Given the description of an element on the screen output the (x, y) to click on. 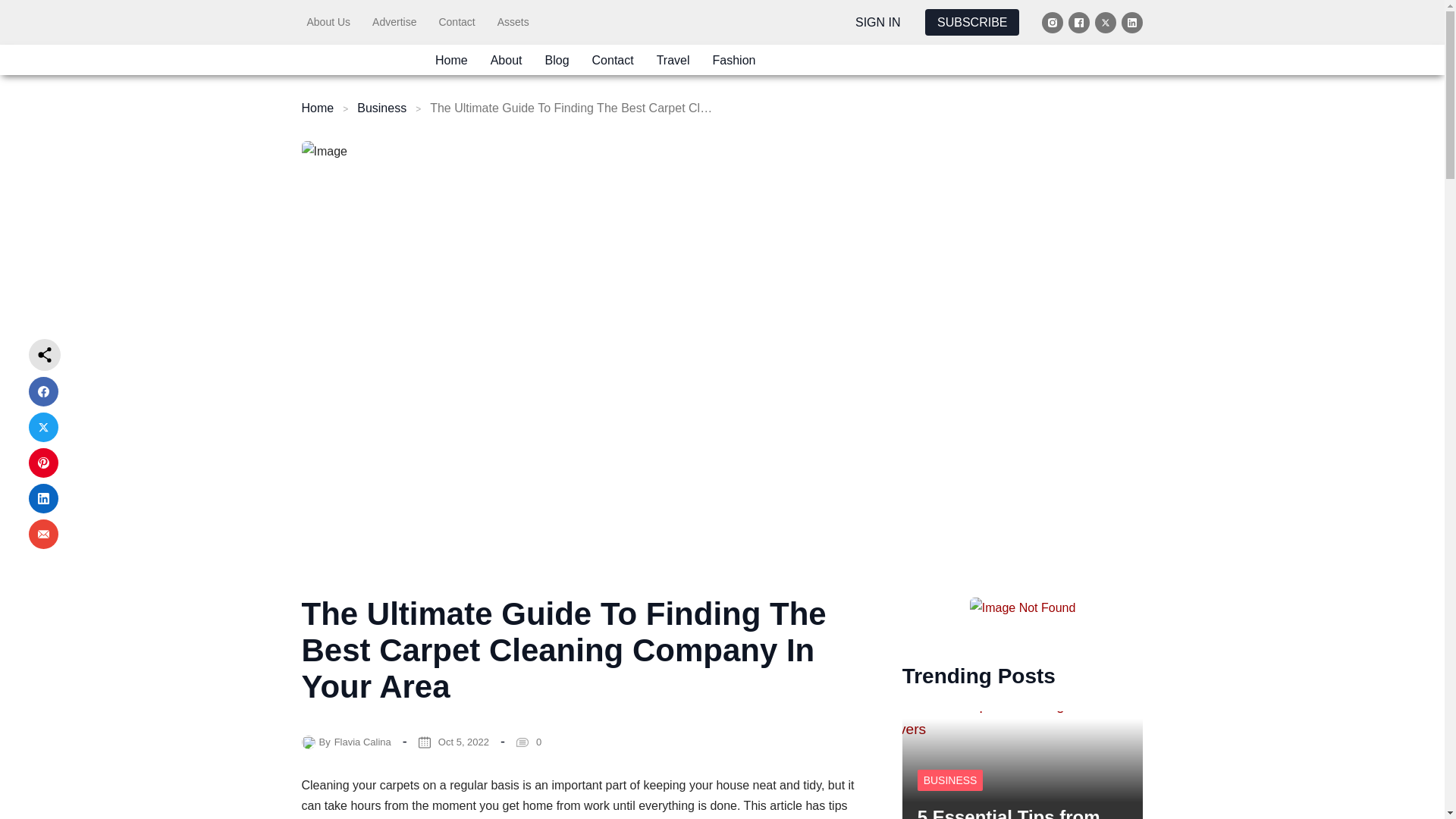
Contact (612, 59)
Fashion (734, 59)
Flavia Calina (362, 742)
Advertise (394, 21)
Business (381, 107)
About (506, 59)
Blog (556, 59)
Home (317, 107)
Assets (513, 21)
Travel (673, 59)
